Given the description of an element on the screen output the (x, y) to click on. 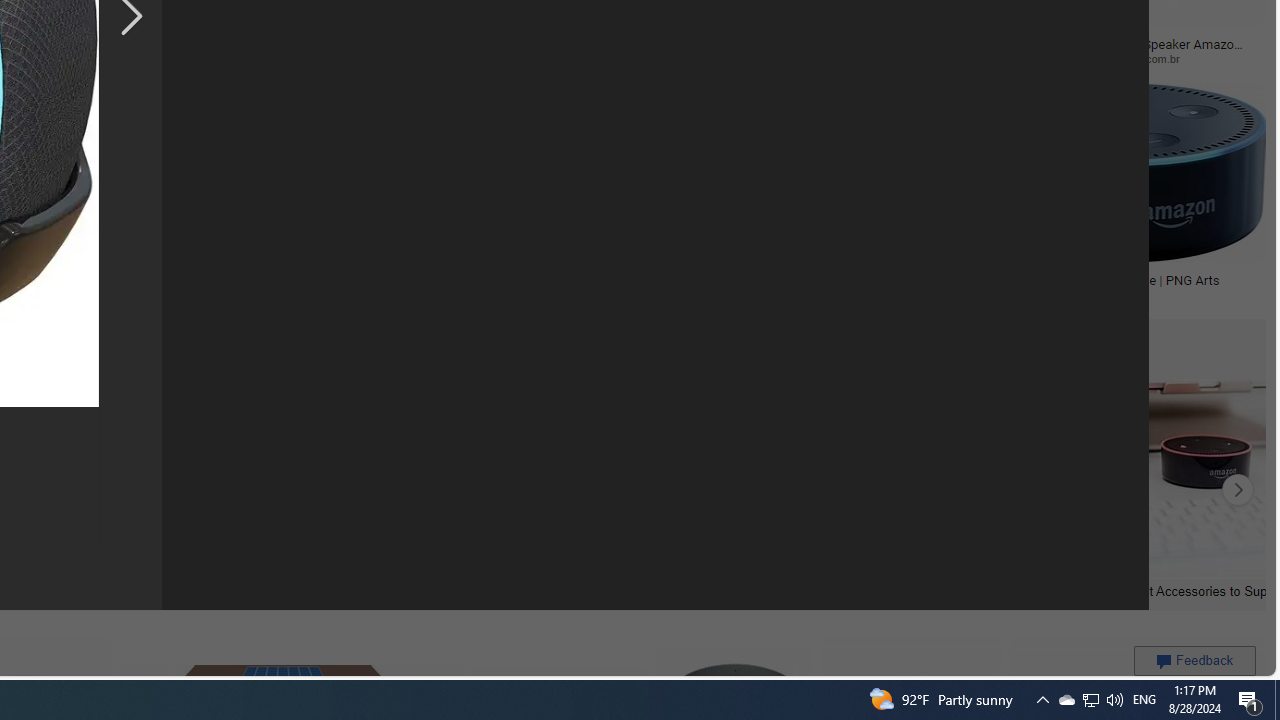
Best Amazon Echo Dot Accessories for 2024 (437, 589)
winmaec.com (705, 57)
skroutz.gr (253, 294)
Click to scroll right (1238, 489)
Amazonecho Dot With Alexa (Gen 4) (812, 279)
Amazonecho Dot With Alexa (Gen 4) (836, 279)
